Given the description of an element on the screen output the (x, y) to click on. 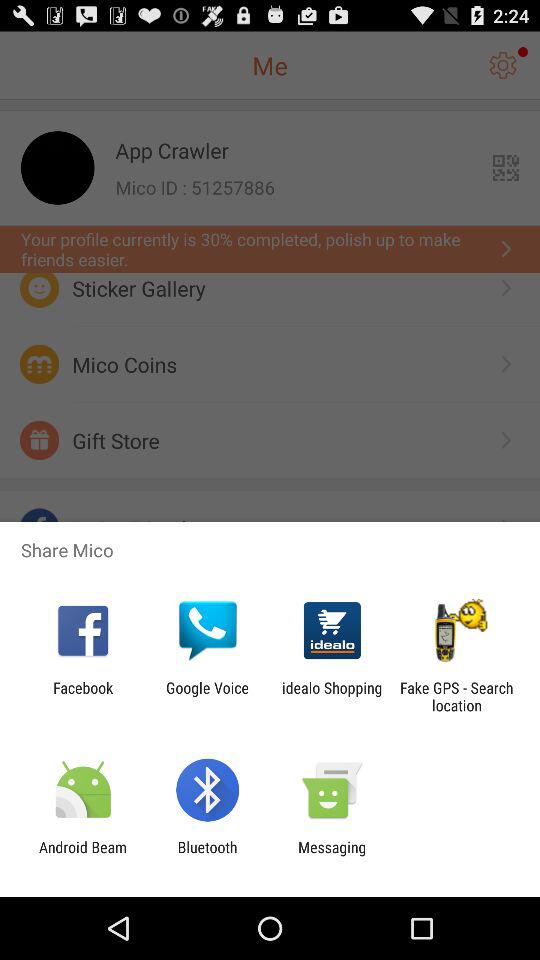
swipe until bluetooth (207, 856)
